Given the description of an element on the screen output the (x, y) to click on. 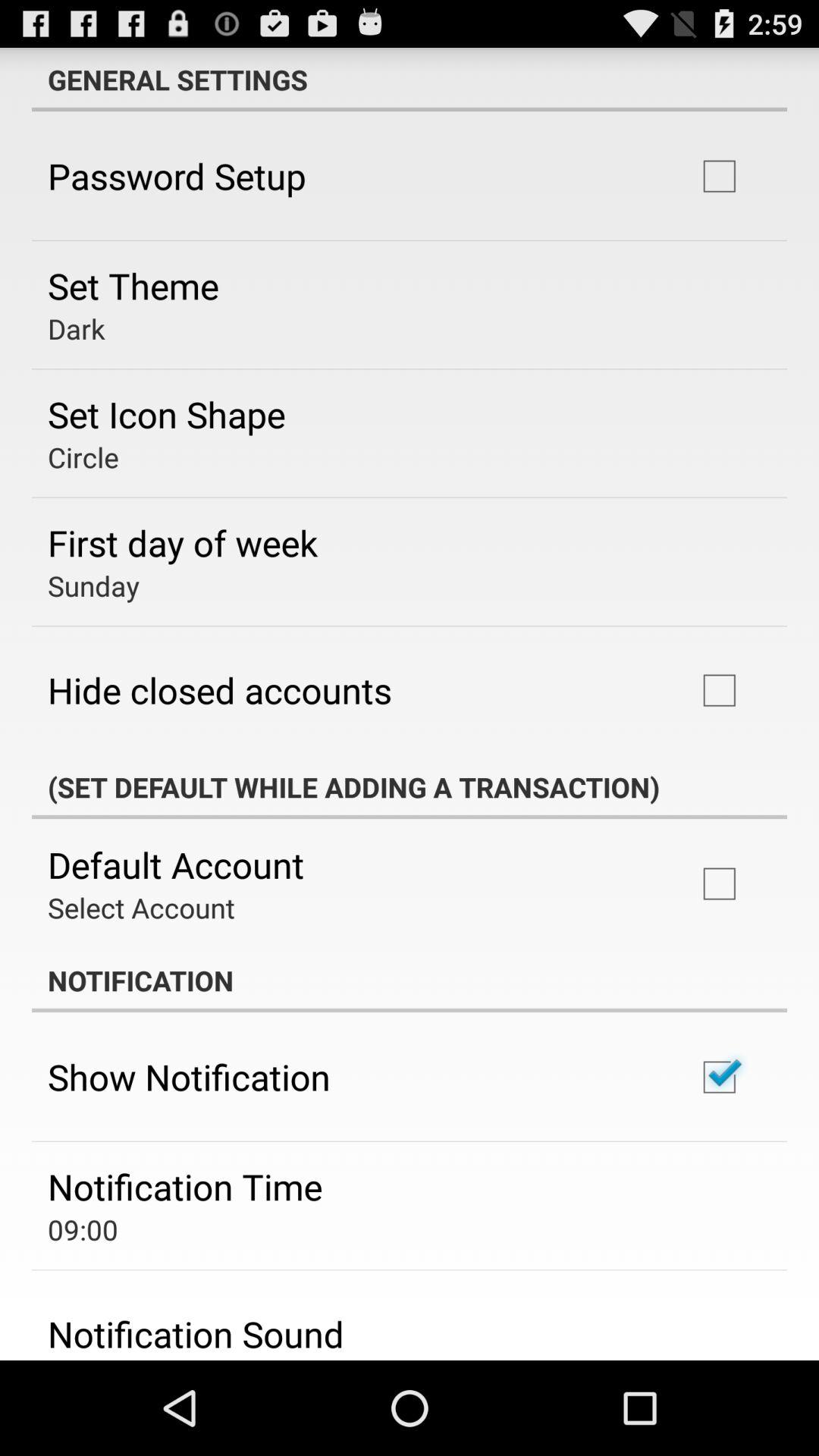
turn off item above set default while app (219, 690)
